Given the description of an element on the screen output the (x, y) to click on. 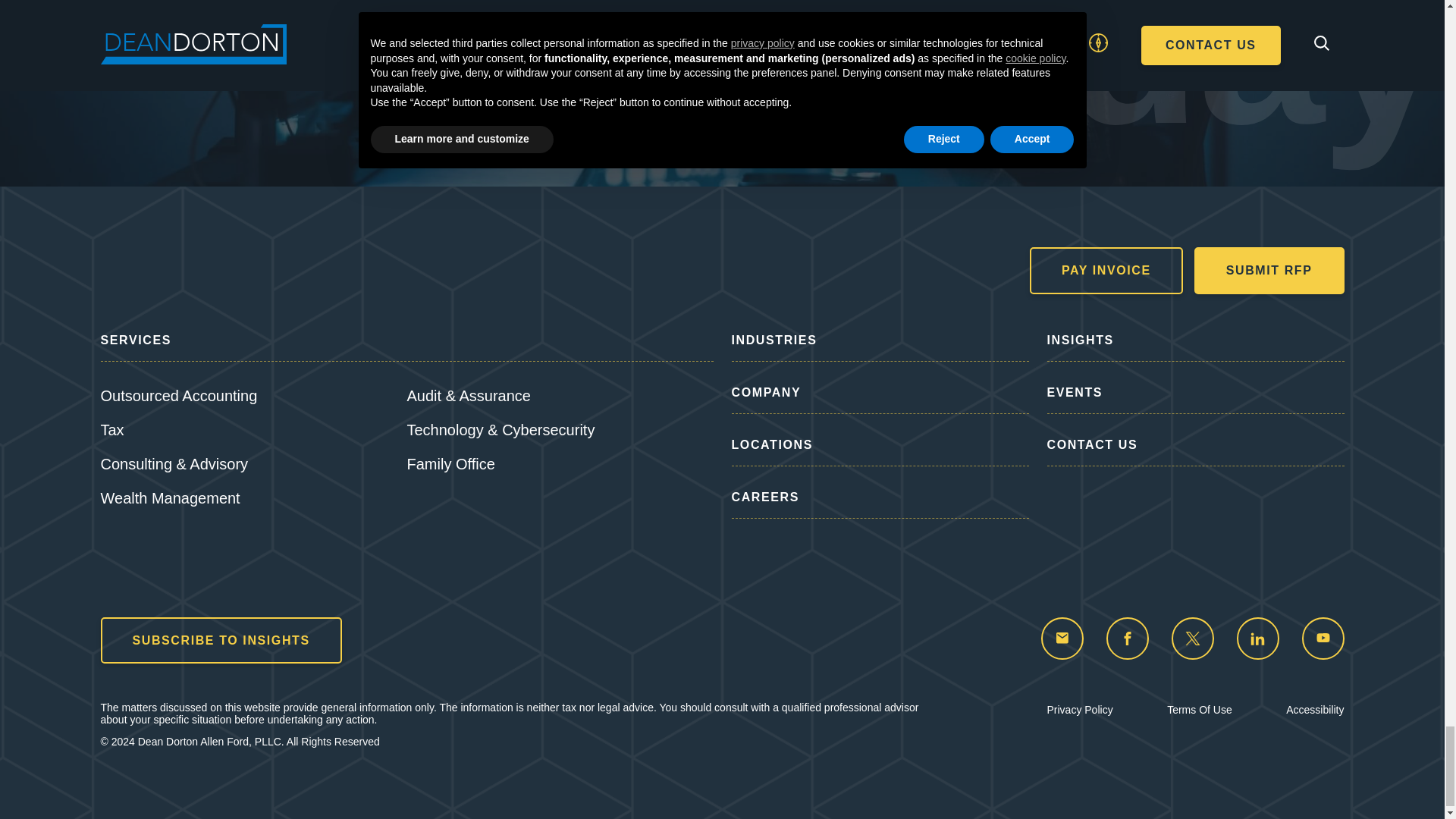
Dean Dorton - CPAs and Advisors on Facebook (1126, 638)
Dean Dorton - CPAs and Advisors on twitter (1191, 638)
Dean Dorton - CPAs and Advisors on email (1062, 638)
Dean Dorton - CPAs and Advisors on LinkedIn (1257, 638)
Dean Dorton - CPAs and Advisors on YouTube (1322, 638)
